Given the description of an element on the screen output the (x, y) to click on. 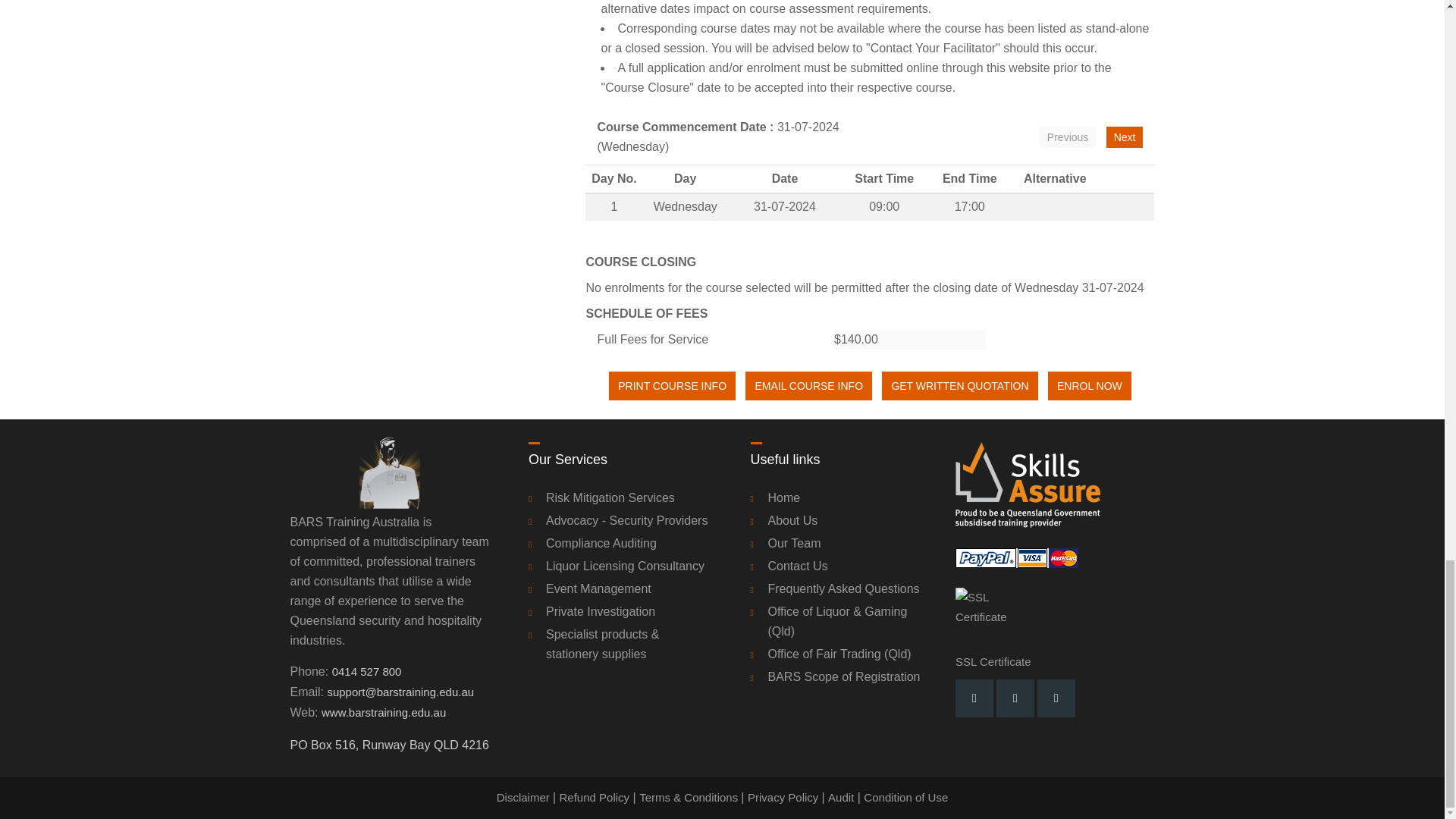
Next (1124, 137)
Next Available Dates (1124, 137)
Previous (1067, 137)
